Given the description of an element on the screen output the (x, y) to click on. 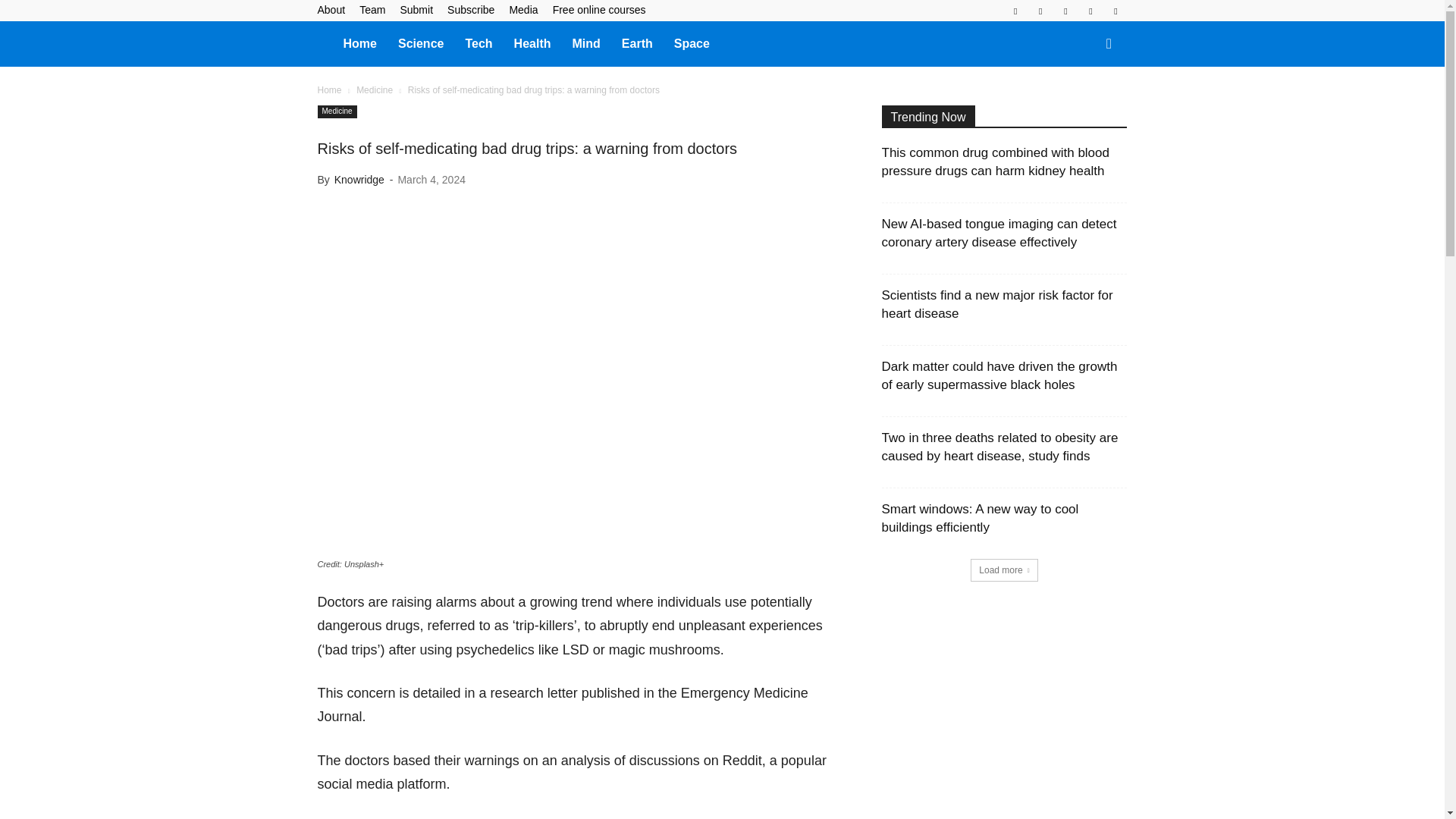
View all posts in Medicine (374, 90)
Team (372, 9)
Subscribe (470, 9)
About (331, 9)
Free online courses (599, 9)
Media (522, 9)
Twitter (1090, 10)
Facebook (1015, 10)
Linkedin (1040, 10)
Knowridge Science Report (324, 42)
